Given the description of an element on the screen output the (x, y) to click on. 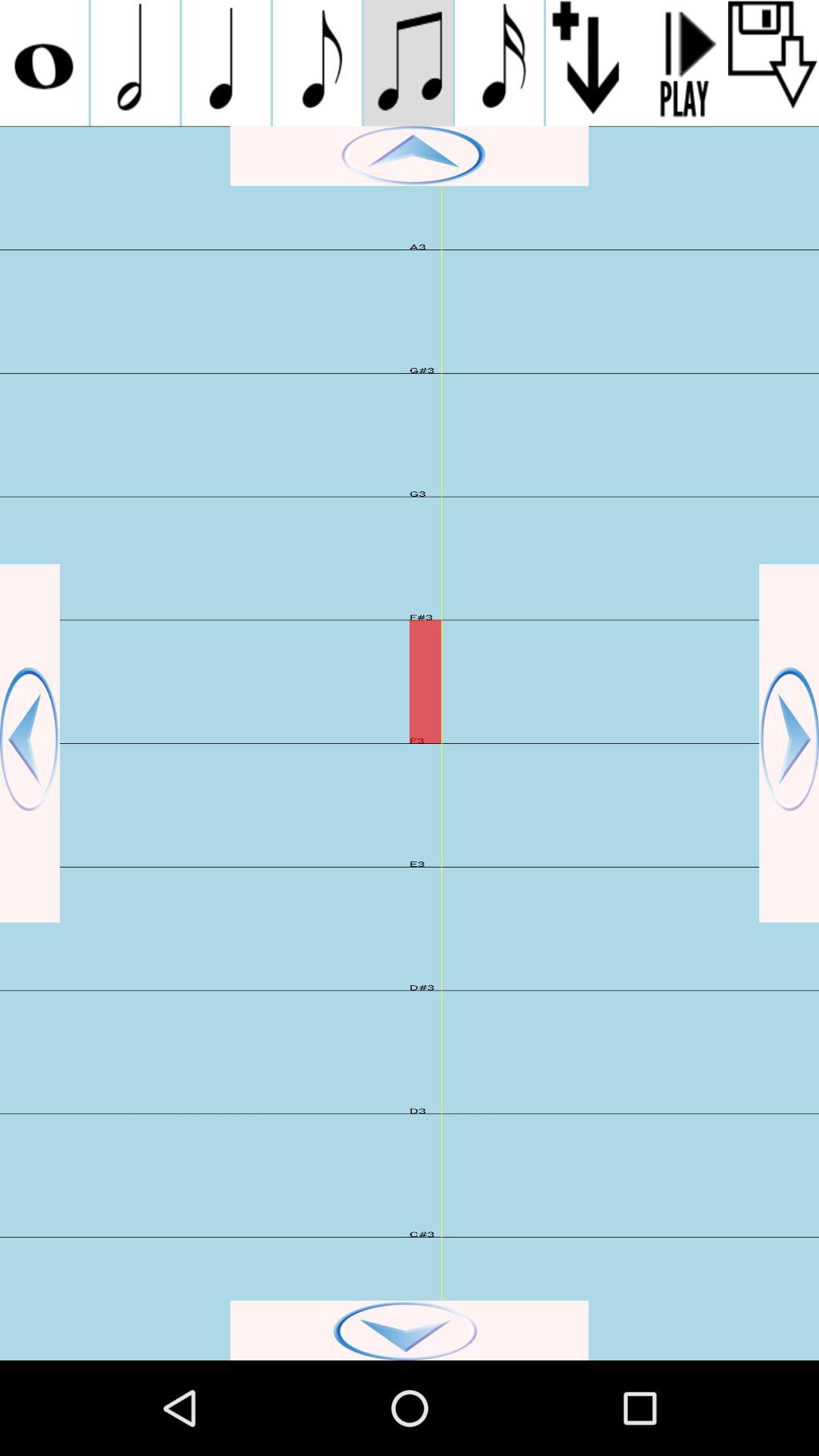
select note (408, 63)
